Given the description of an element on the screen output the (x, y) to click on. 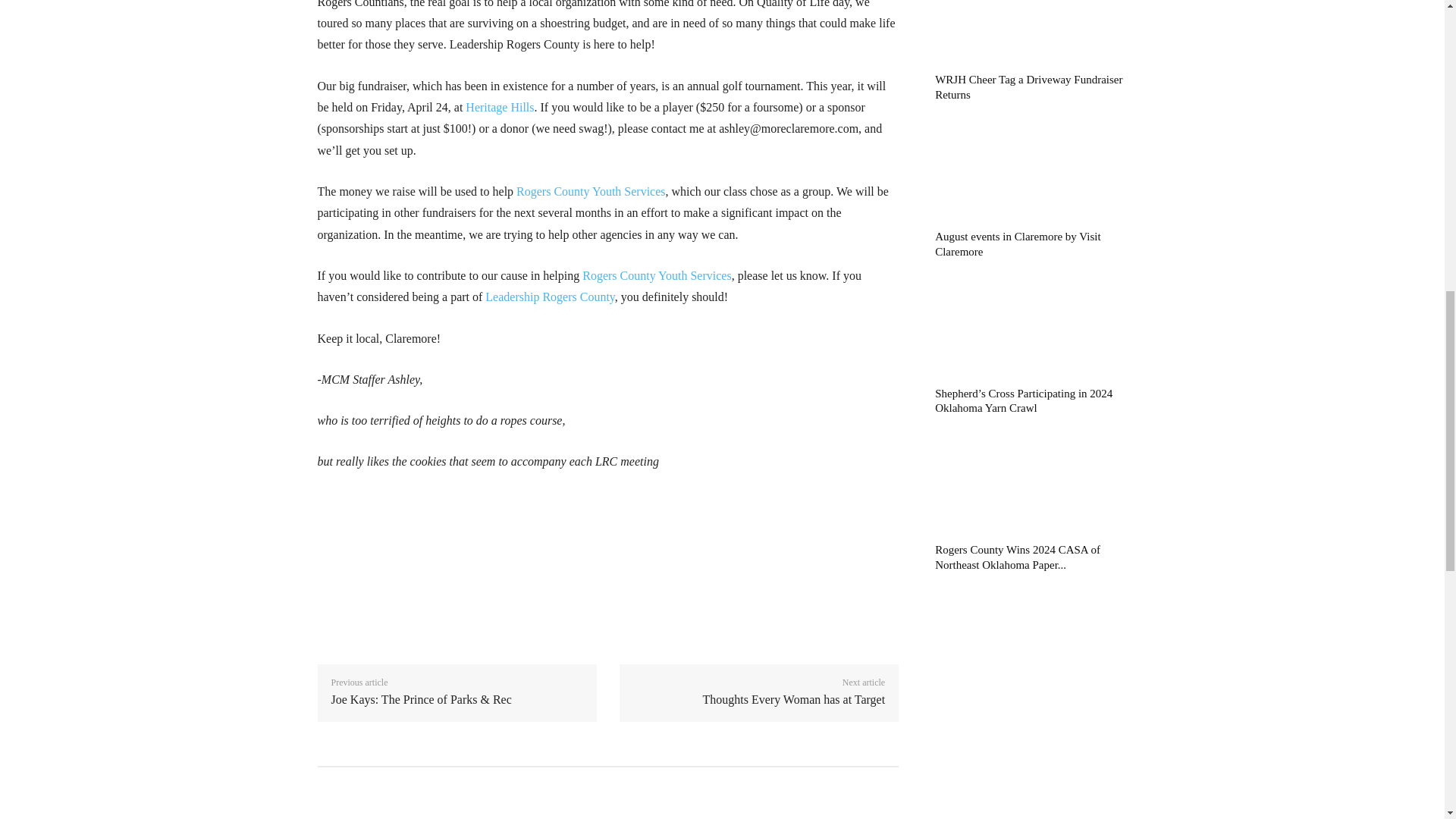
August events in Claremore by Visit Claremore (1017, 243)
WRJH Cheer Tag a Driveway Fundraiser Returns (1028, 86)
WRJH Cheer Tag a Driveway Fundraiser Returns (1030, 31)
August events in Claremore by Visit Claremore (1030, 171)
